Given the description of an element on the screen output the (x, y) to click on. 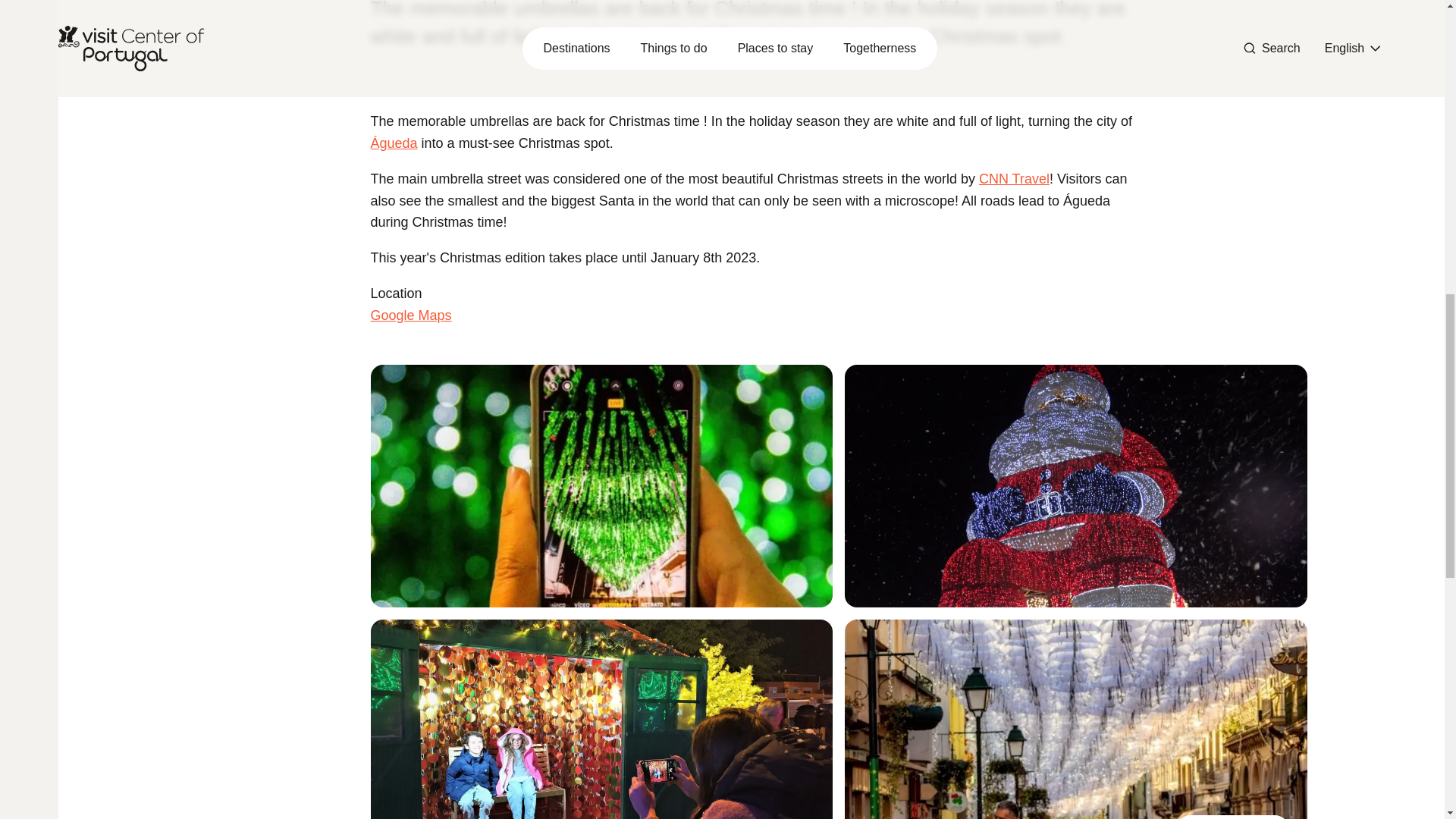
CNN Travel (1013, 178)
See all photos (1232, 816)
Google Maps (411, 325)
